Given the description of an element on the screen output the (x, y) to click on. 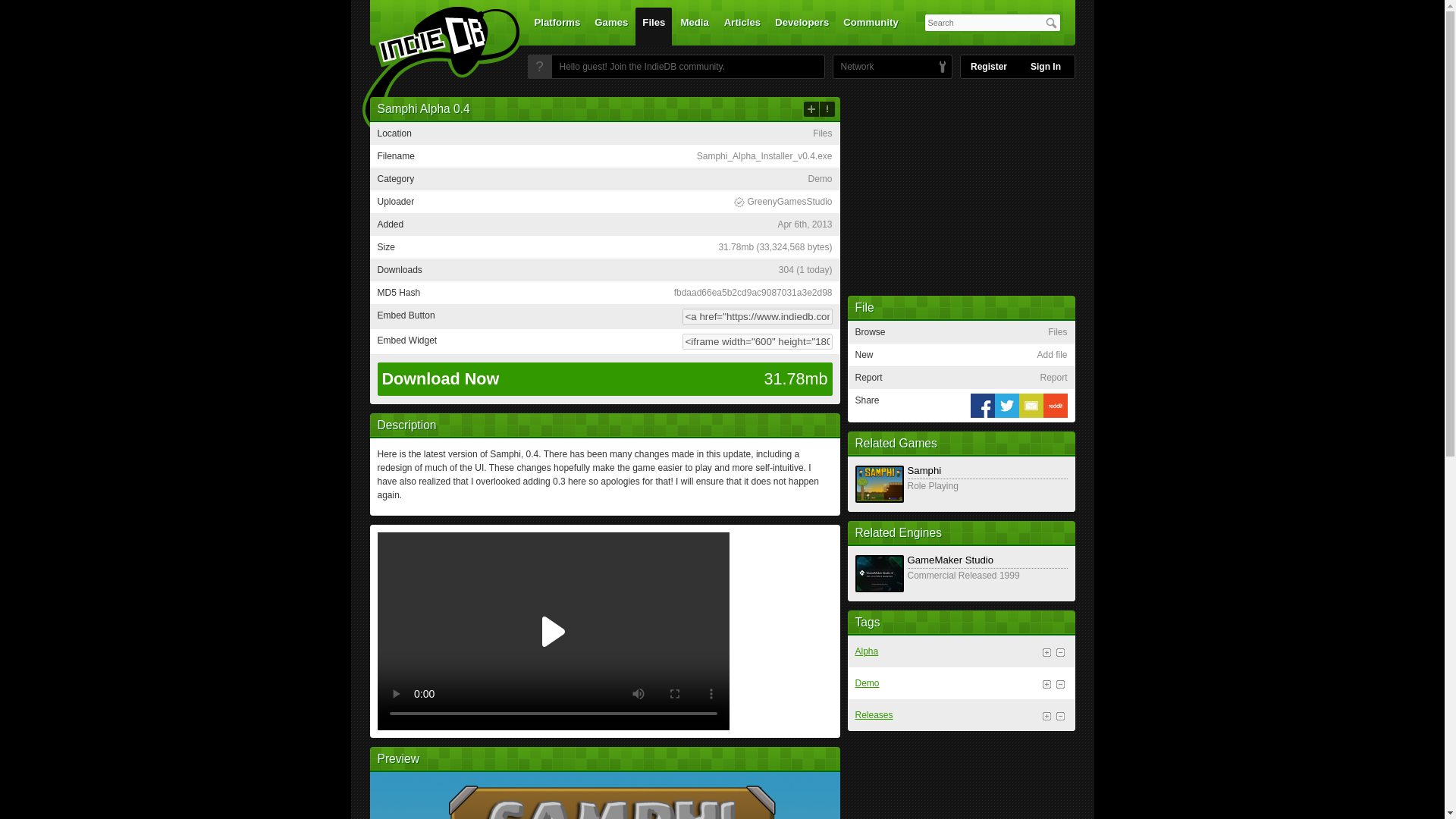
Samphi Alpha 0.4 Statistics (805, 269)
Developers (801, 26)
Home (430, 70)
Join IndieDB (539, 66)
Download Manager (782, 201)
Add file (810, 109)
DBolical (852, 66)
Articles (742, 26)
Search (1050, 22)
